Given the description of an element on the screen output the (x, y) to click on. 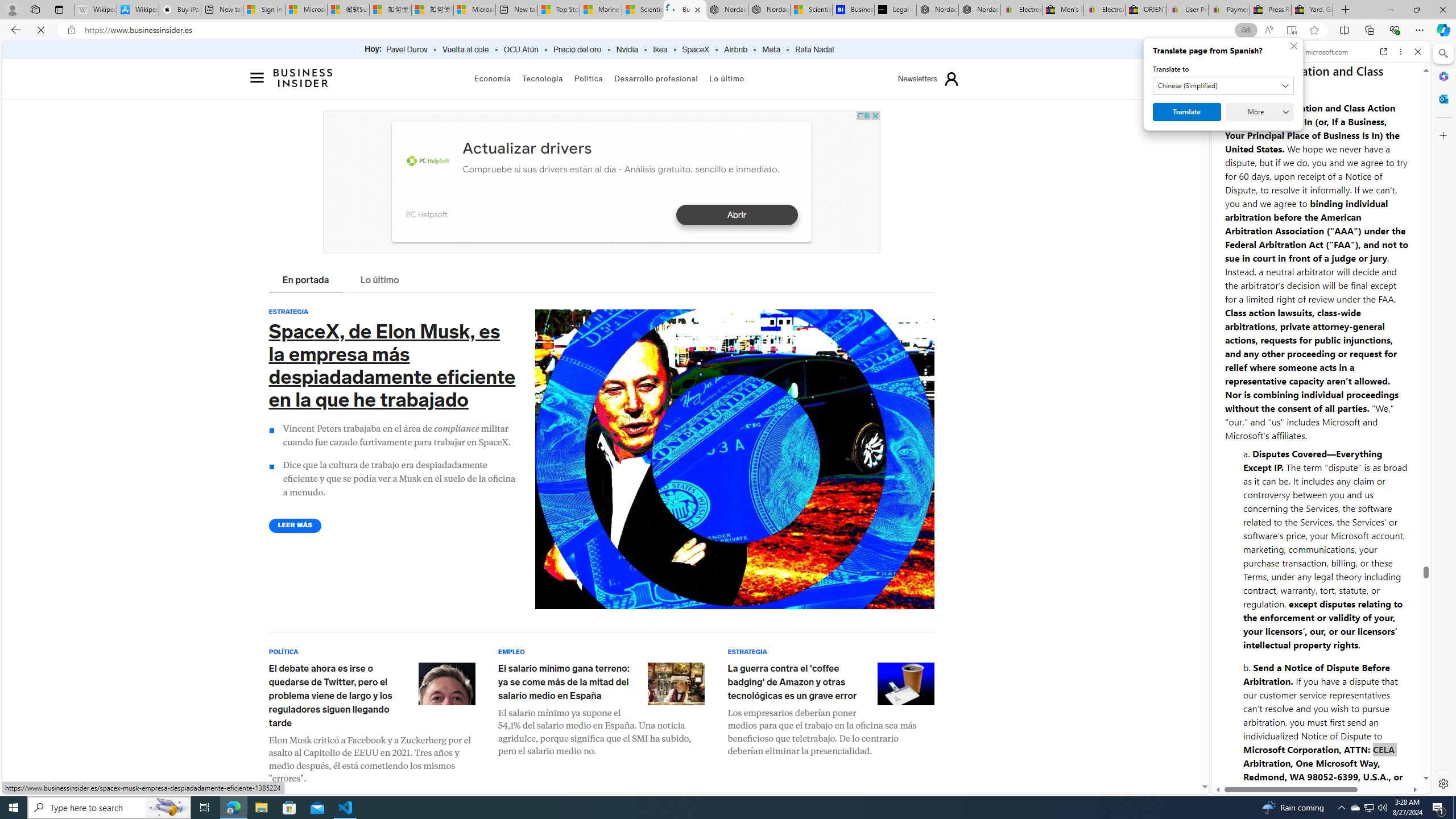
SpaceX (695, 49)
Microsoft account | Account Checkup (474, 9)
Marine life - MSN (600, 9)
Translate to (1177, 85)
Payments Terms of Use | eBay.com (1229, 9)
